Given the description of an element on the screen output the (x, y) to click on. 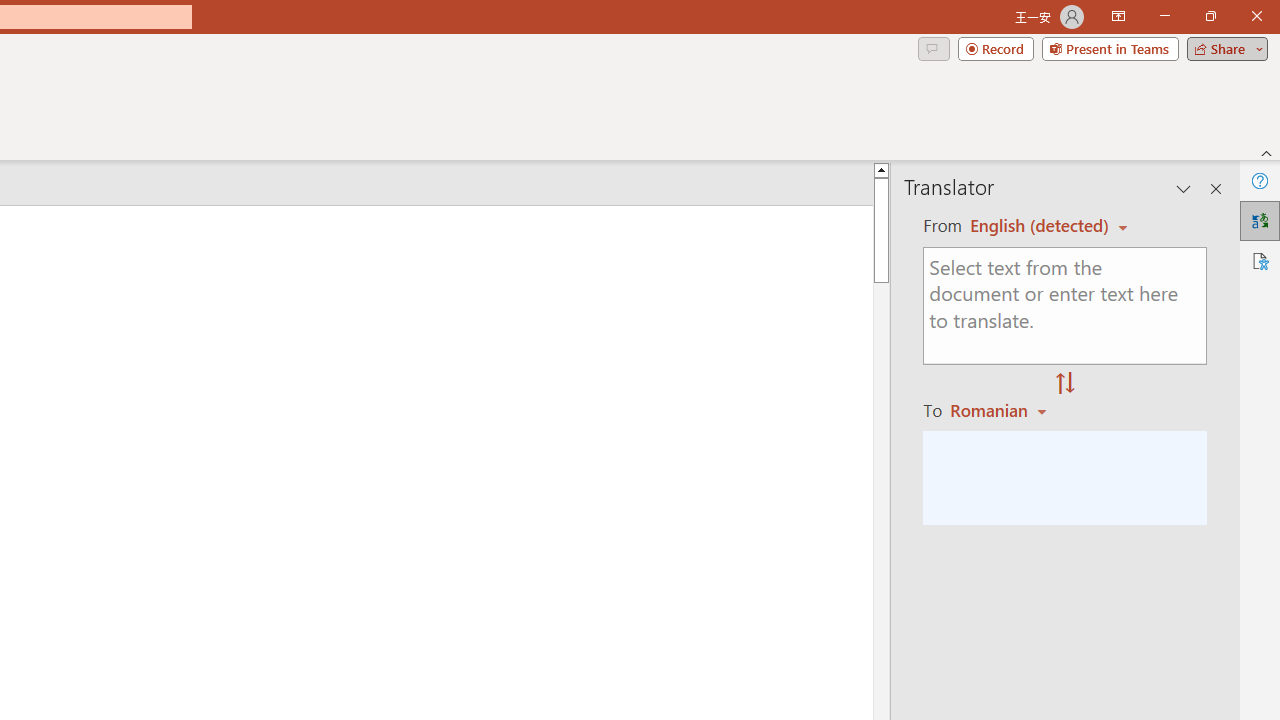
Czech (detected) (1039, 225)
Romanian (1001, 409)
